Given the description of an element on the screen output the (x, y) to click on. 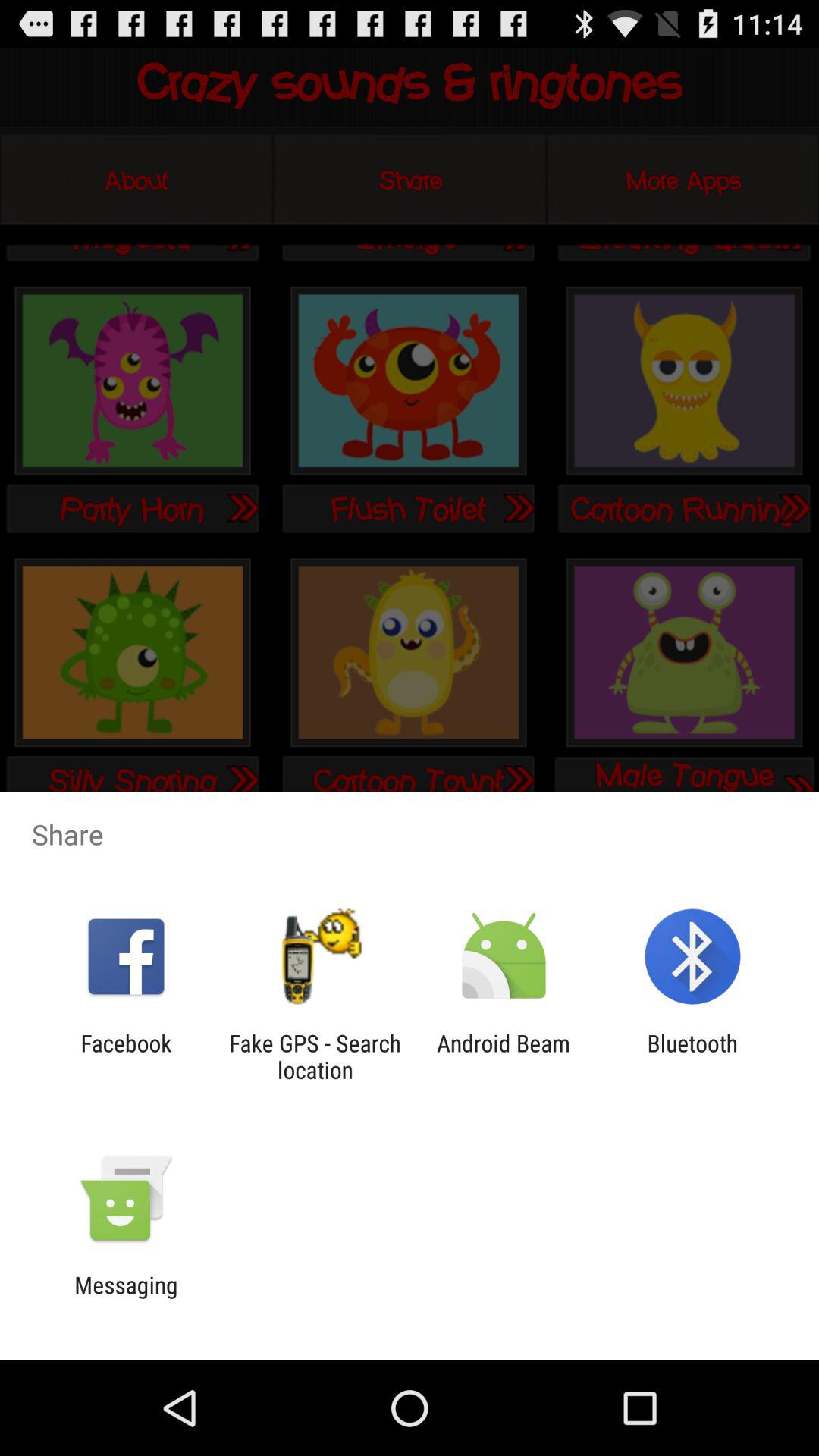
turn on the app next to the fake gps search icon (503, 1056)
